Given the description of an element on the screen output the (x, y) to click on. 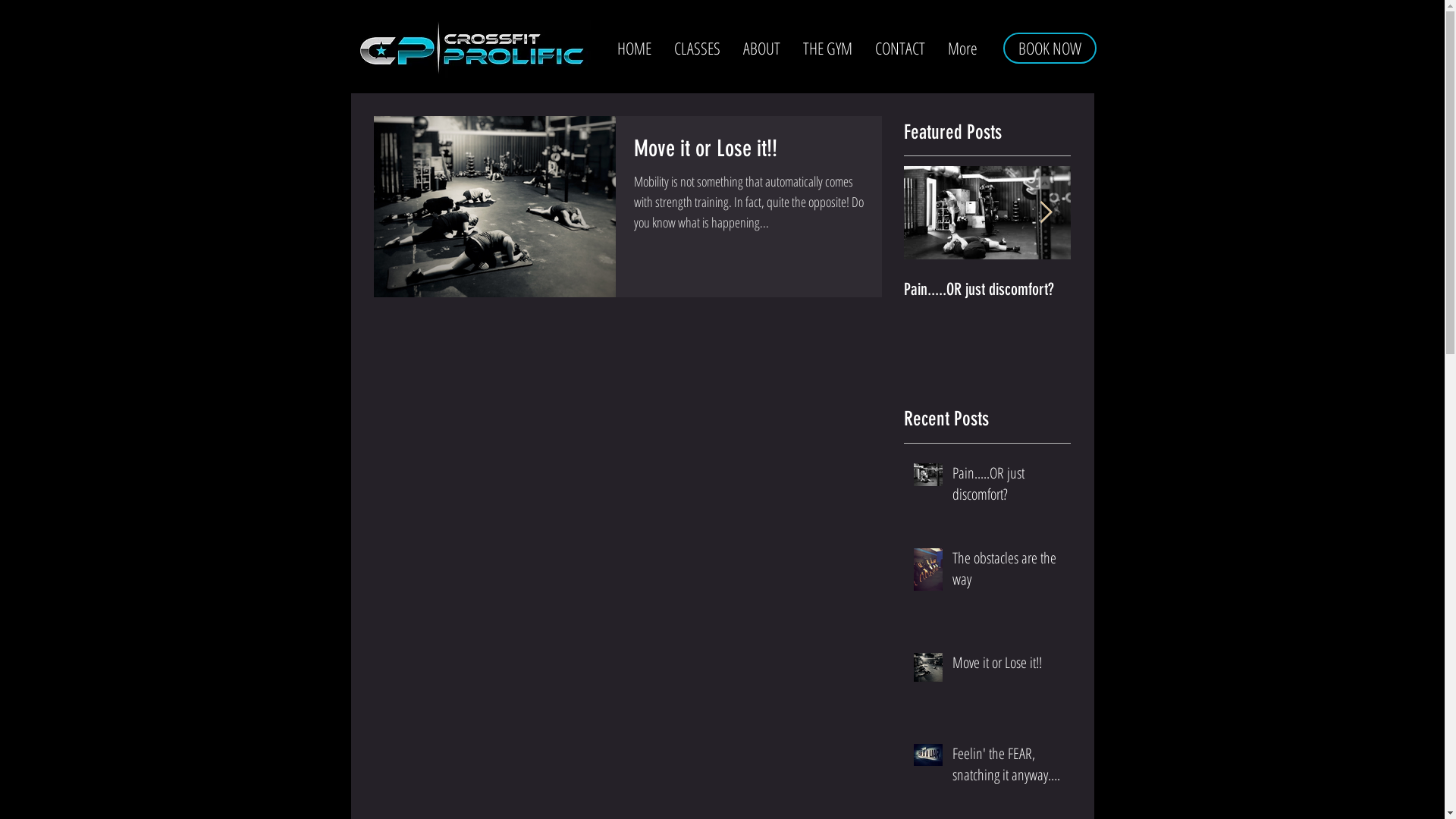
Pain.....OR just discomfort? Element type: text (986, 289)
CLASSES Element type: text (696, 47)
Move it or Lose it!! Element type: text (1006, 665)
Pain.....OR just discomfort? Element type: text (1006, 486)
Move it or Lose it!! Element type: text (748, 152)
BOOK NOW Element type: text (1048, 47)
CONTACT Element type: text (898, 47)
THE GYM Element type: text (827, 47)
HOME Element type: text (633, 47)
Move it or Lose it!! Element type: text (1153, 289)
The obstacles are the way Element type: text (1006, 571)
ABOUT Element type: text (760, 47)
